Given the description of an element on the screen output the (x, y) to click on. 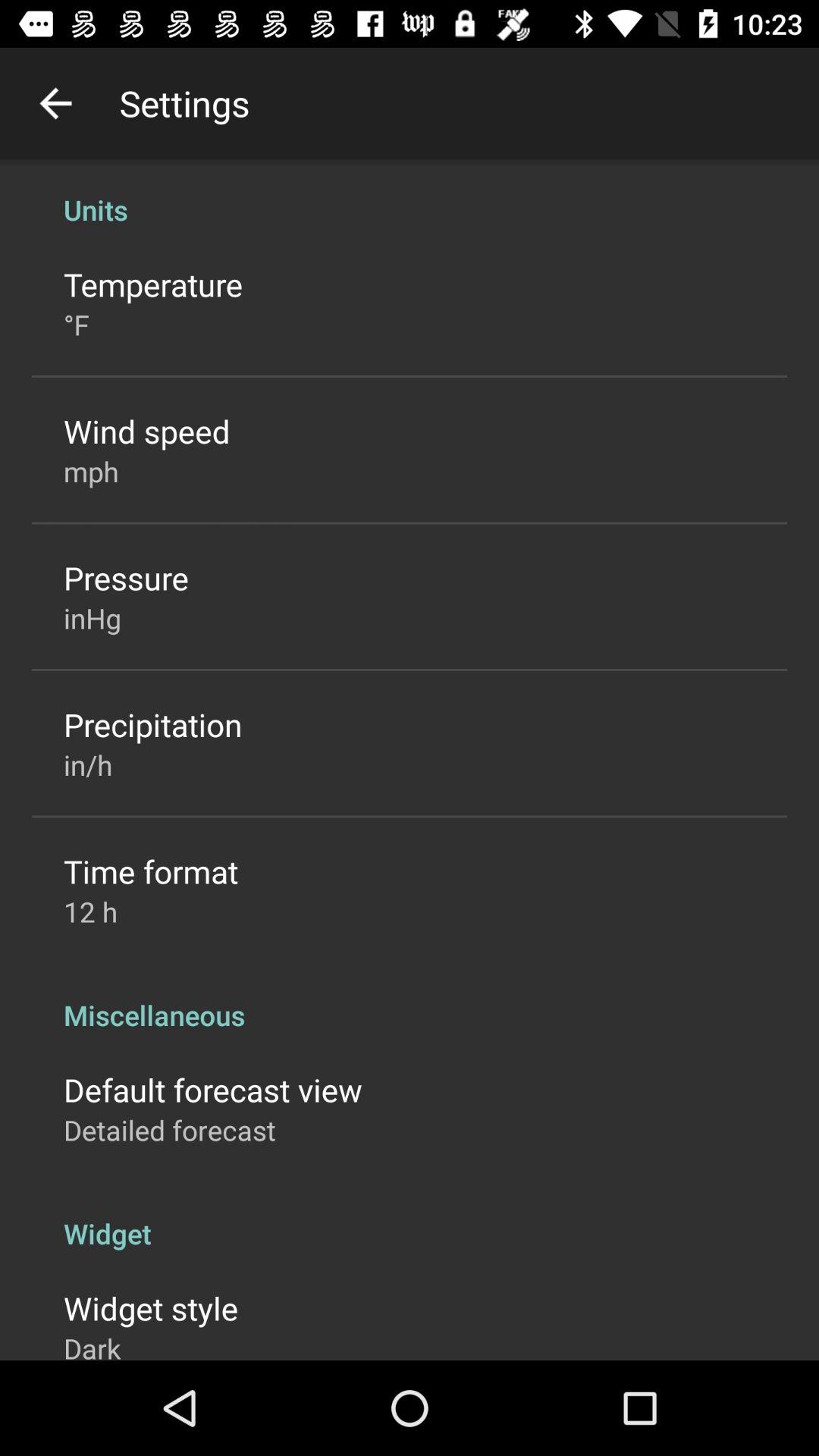
flip to the inhg (92, 618)
